Given the description of an element on the screen output the (x, y) to click on. 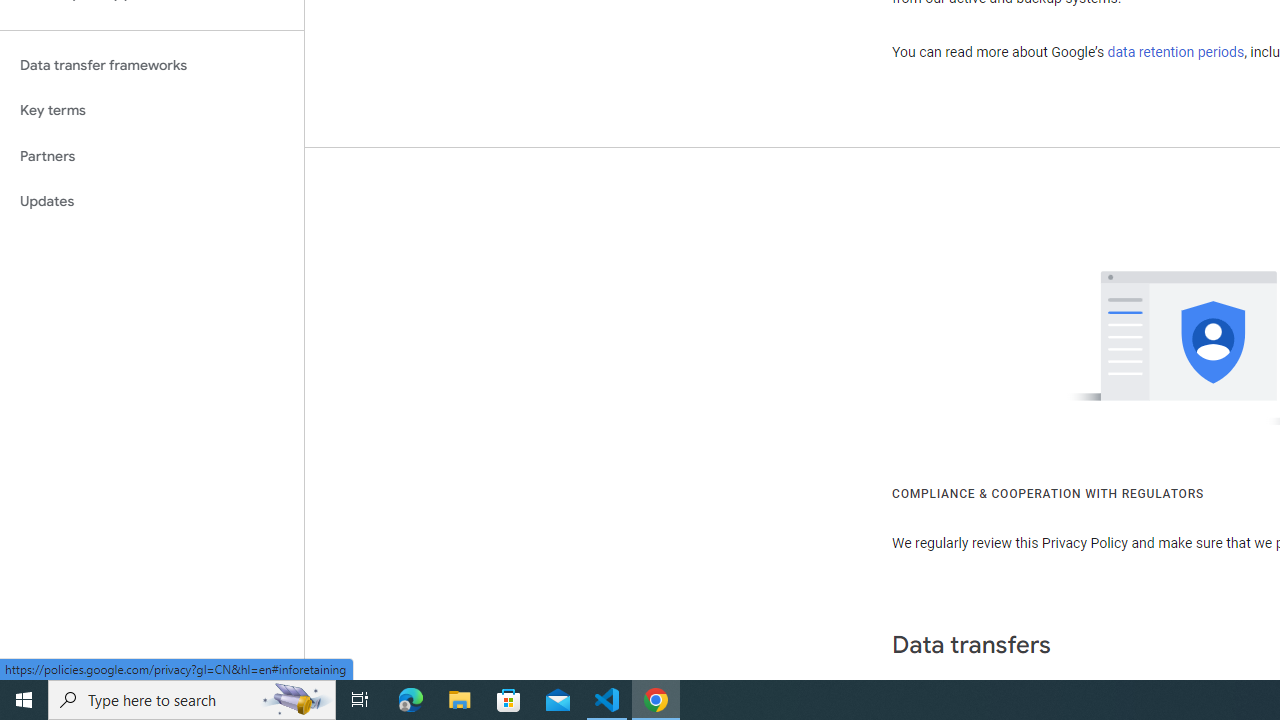
data retention periods (1176, 52)
Data transfer frameworks (152, 65)
Updates (152, 201)
Key terms (152, 110)
Partners (152, 156)
